Given the description of an element on the screen output the (x, y) to click on. 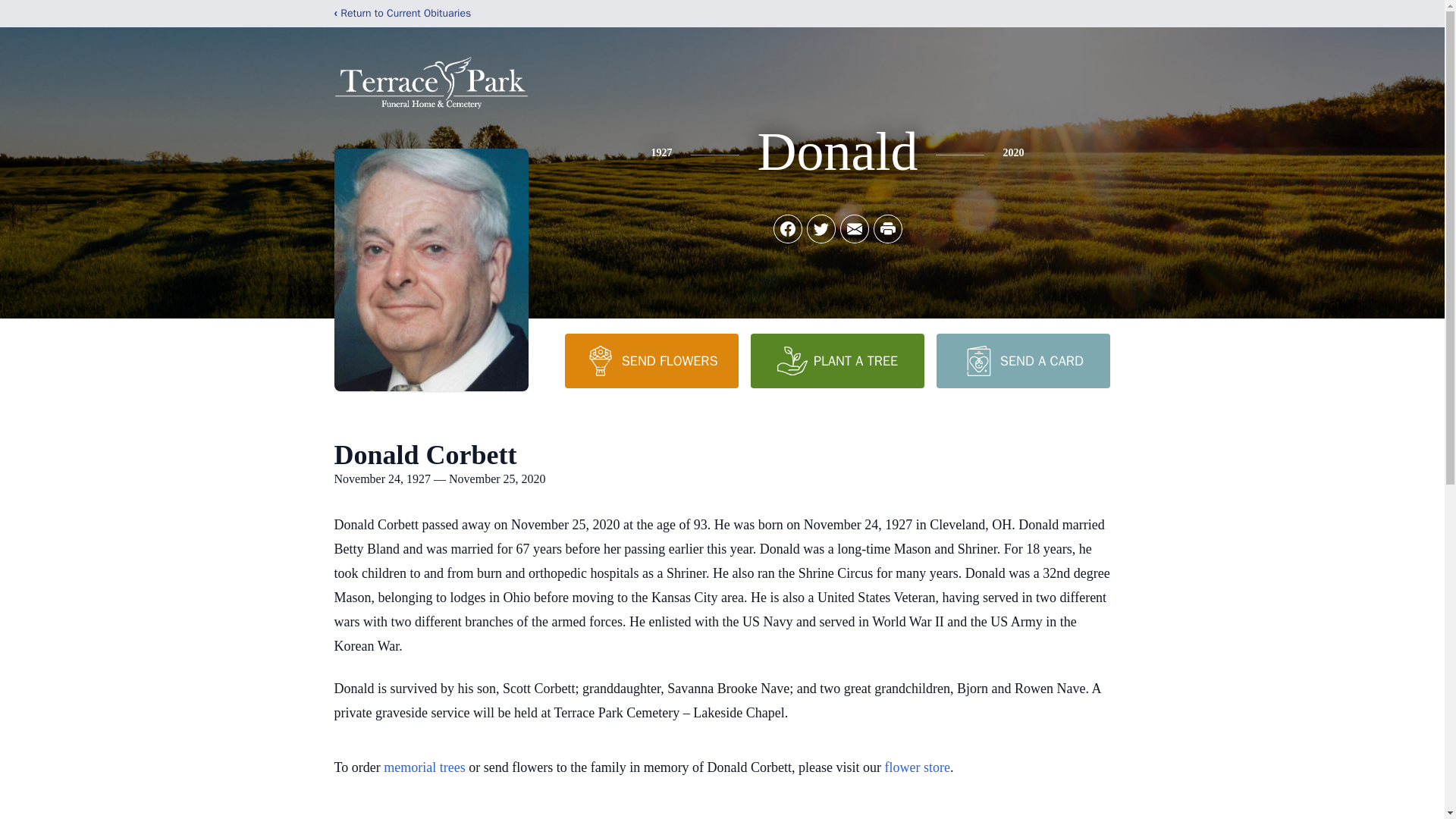
SEND A CARD (1022, 360)
SEND FLOWERS (651, 360)
PLANT A TREE (837, 360)
flower store (917, 767)
memorial trees (424, 767)
